Given the description of an element on the screen output the (x, y) to click on. 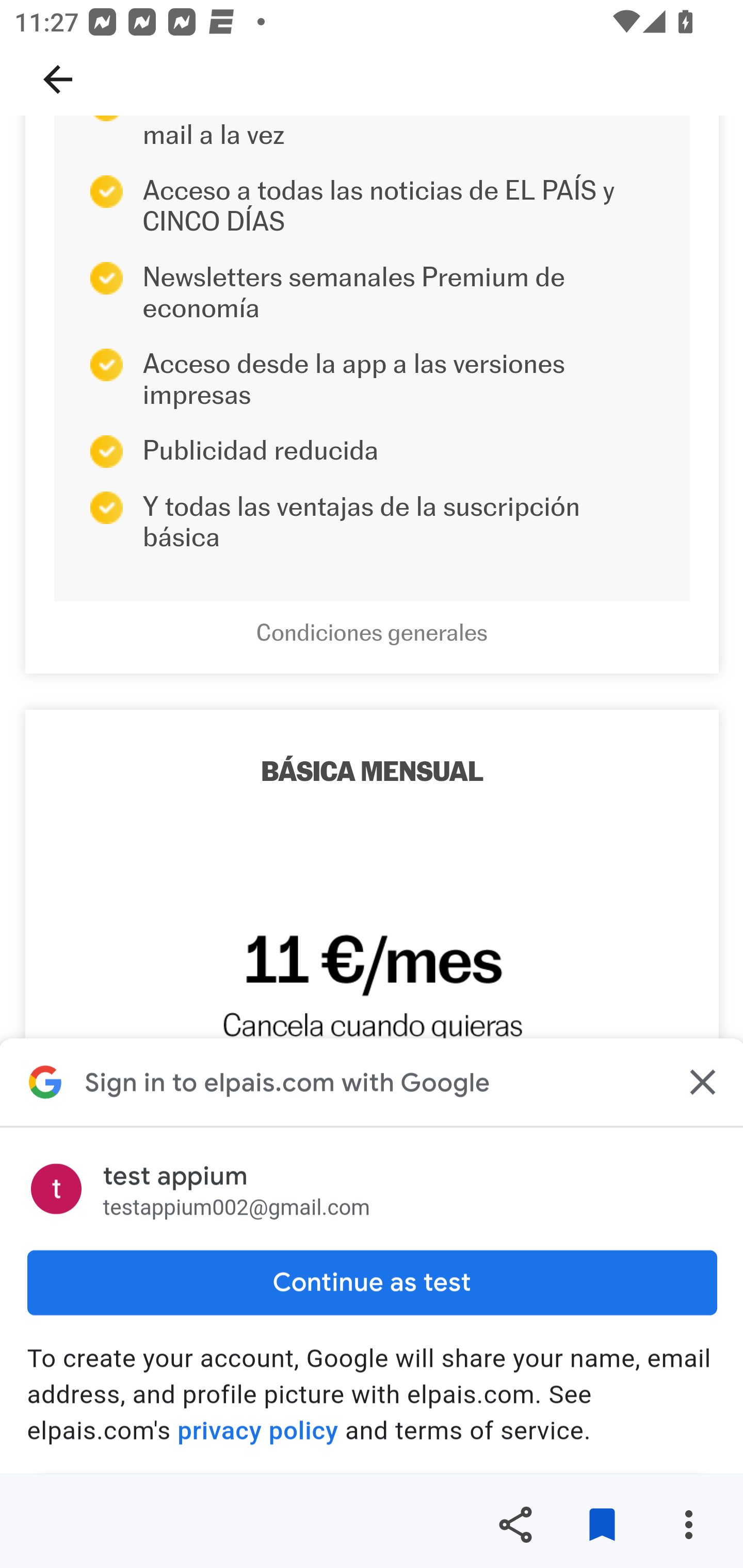
Navigate up (57, 79)
Condiciones generales (371, 633)
Close (700, 1081)
Continue as test (371, 1282)
privacy policy (257, 1430)
Share (514, 1524)
Remove from saved stories (601, 1524)
More options (688, 1524)
